Given the description of an element on the screen output the (x, y) to click on. 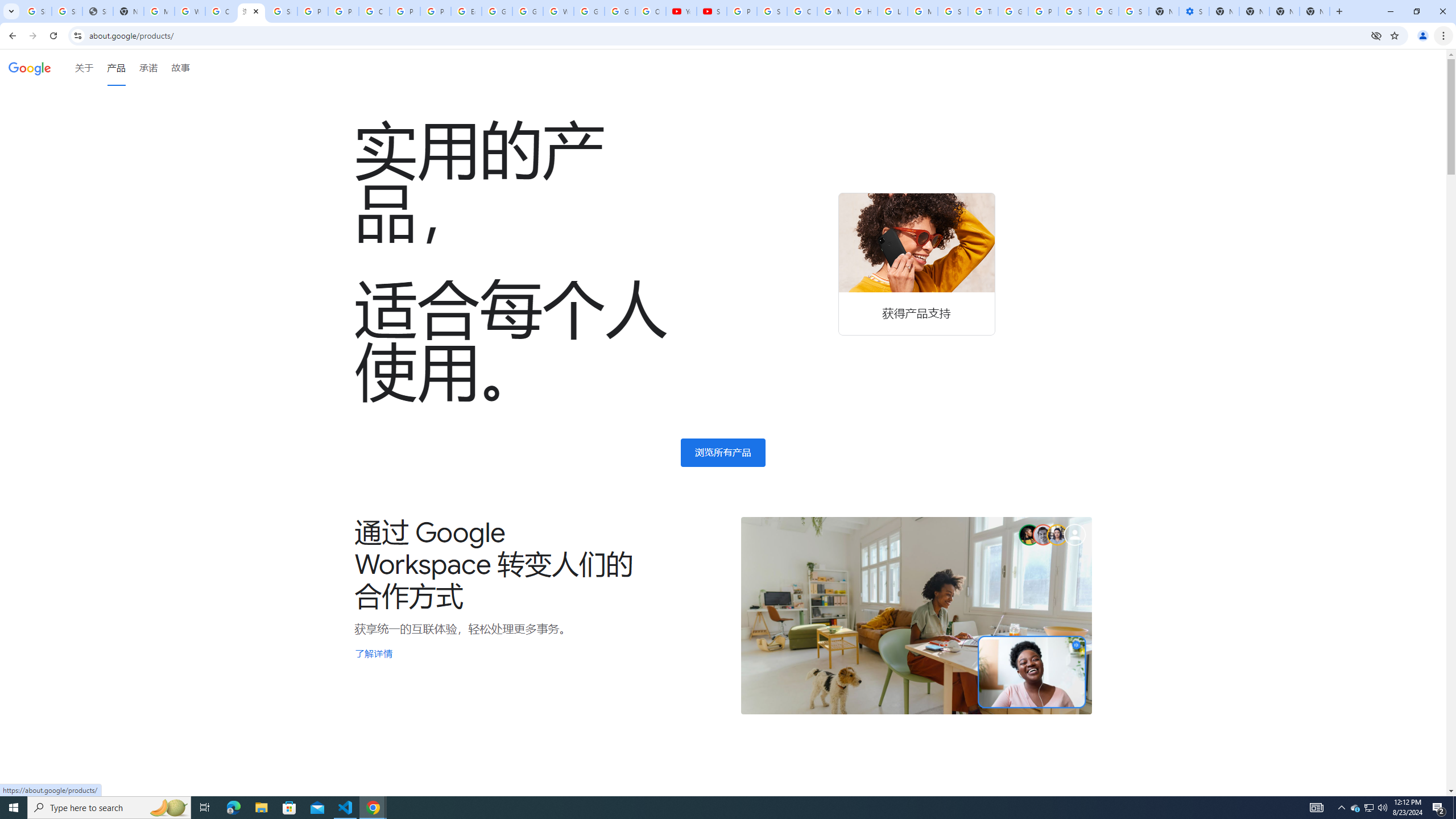
Google Cybersecurity Innovations - Google Safety Center (1103, 11)
Settings - Performance (1193, 11)
Edit and view right-to-left text - Google Docs Editors Help (465, 11)
Sign in - Google Accounts (66, 11)
Subscriptions - YouTube (711, 11)
